Given the description of an element on the screen output the (x, y) to click on. 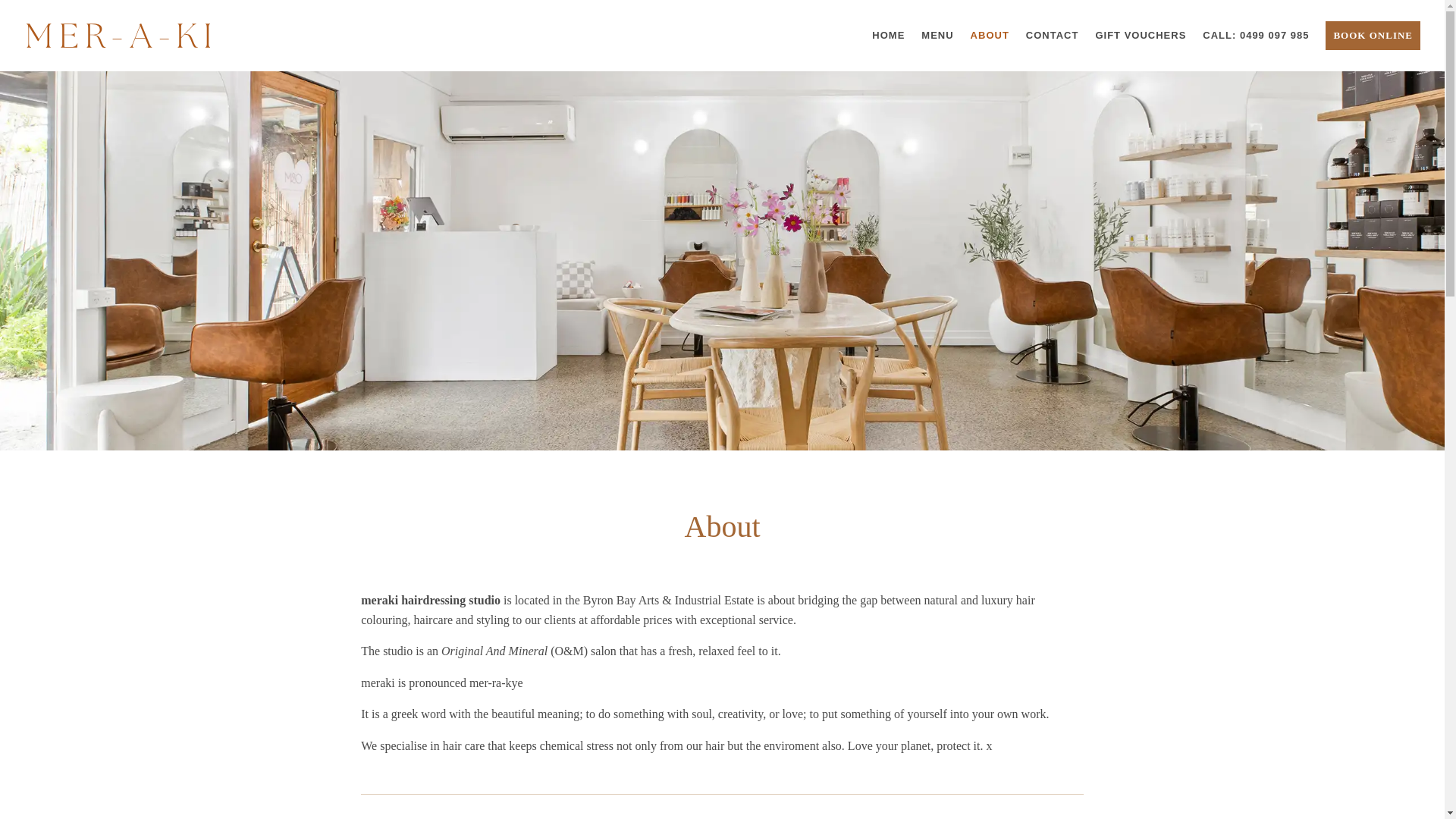
CALL: 0499 097 985 (1255, 50)
ABOUT (990, 50)
GIFT VOUCHERS (1140, 50)
CONTACT (1052, 50)
BOOK ONLINE (1372, 46)
